Given the description of an element on the screen output the (x, y) to click on. 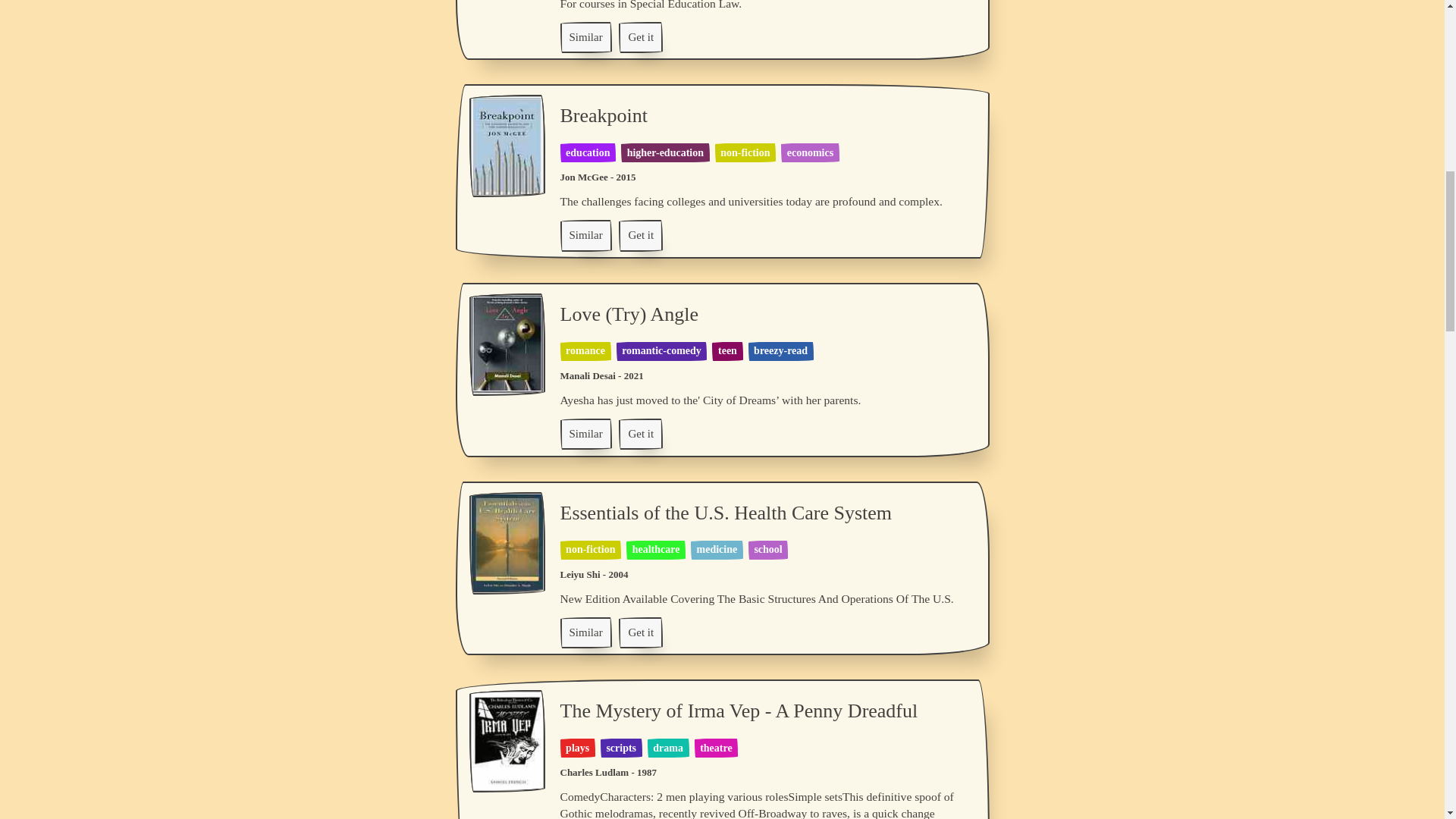
teen (726, 350)
economics (809, 152)
Similar (585, 37)
higher-education (665, 152)
Similar (585, 235)
Get it (640, 235)
Get it (640, 37)
romantic-comedy (661, 350)
romance (585, 350)
Similar (585, 235)
